Given the description of an element on the screen output the (x, y) to click on. 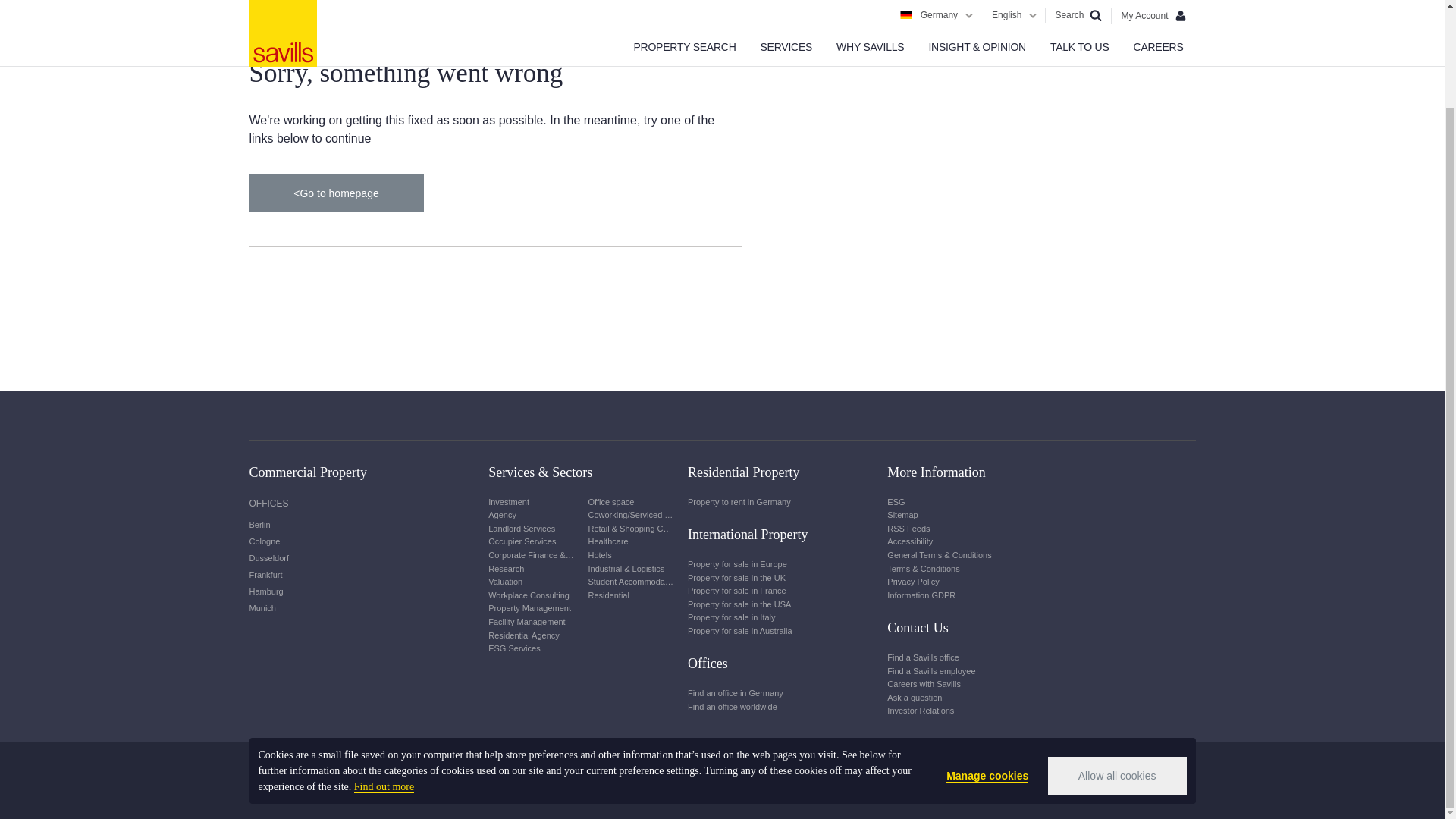
Find out more (383, 674)
Allow all cookies (1117, 663)
Manage cookies (986, 663)
